Given the description of an element on the screen output the (x, y) to click on. 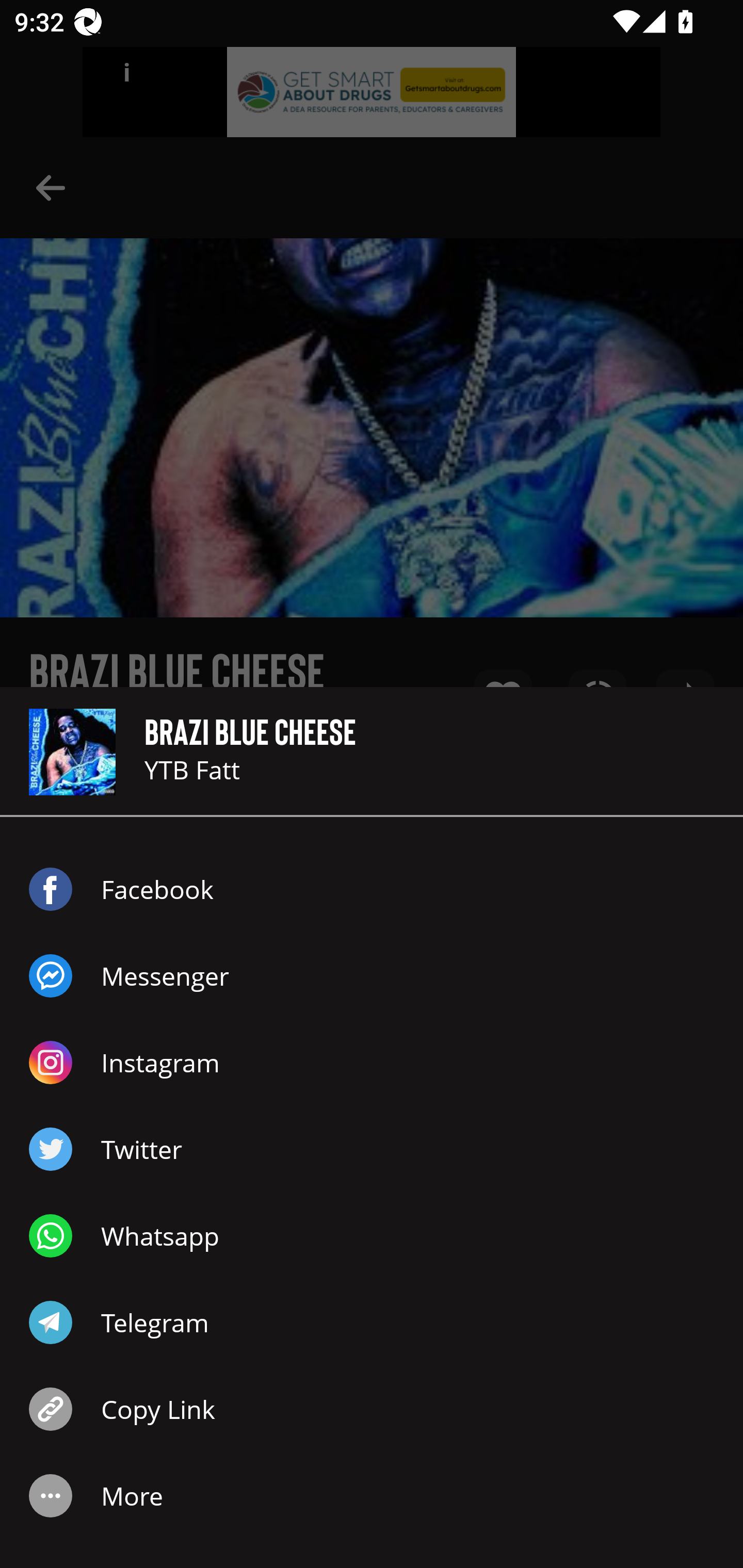
Facebook (371, 888)
Messenger (371, 975)
Instagram (371, 1062)
Twitter (371, 1149)
Whatsapp (371, 1236)
Telegram (371, 1322)
Copy Link (371, 1408)
More (371, 1495)
